Given the description of an element on the screen output the (x, y) to click on. 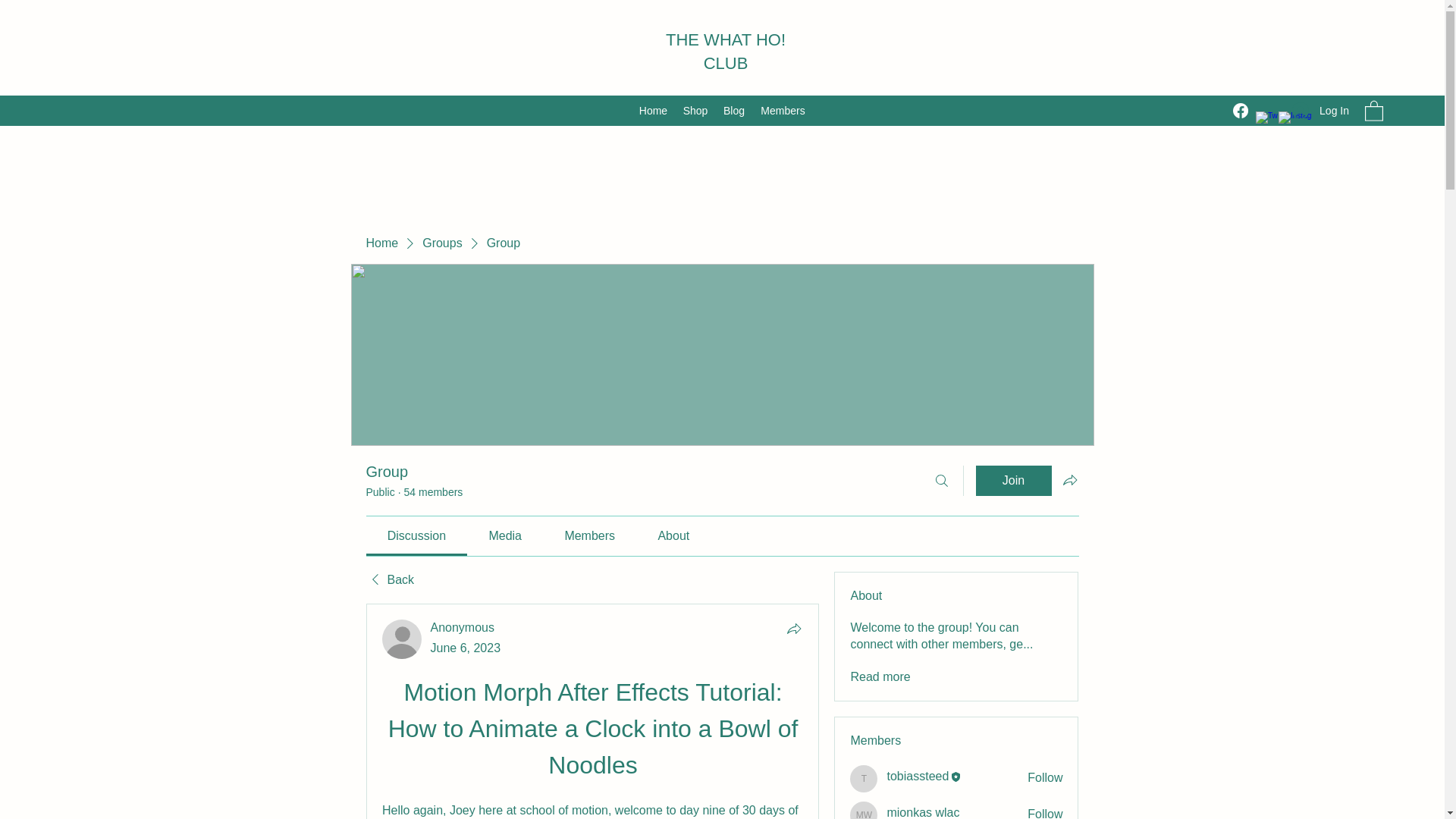
Anonymous (462, 626)
Anonymous (462, 626)
Shop (694, 110)
Home (381, 243)
tobiassteed (863, 778)
Members (782, 110)
Home (652, 110)
Read more (880, 677)
mionkas wlac (863, 810)
Log In (1320, 111)
